Given the description of an element on the screen output the (x, y) to click on. 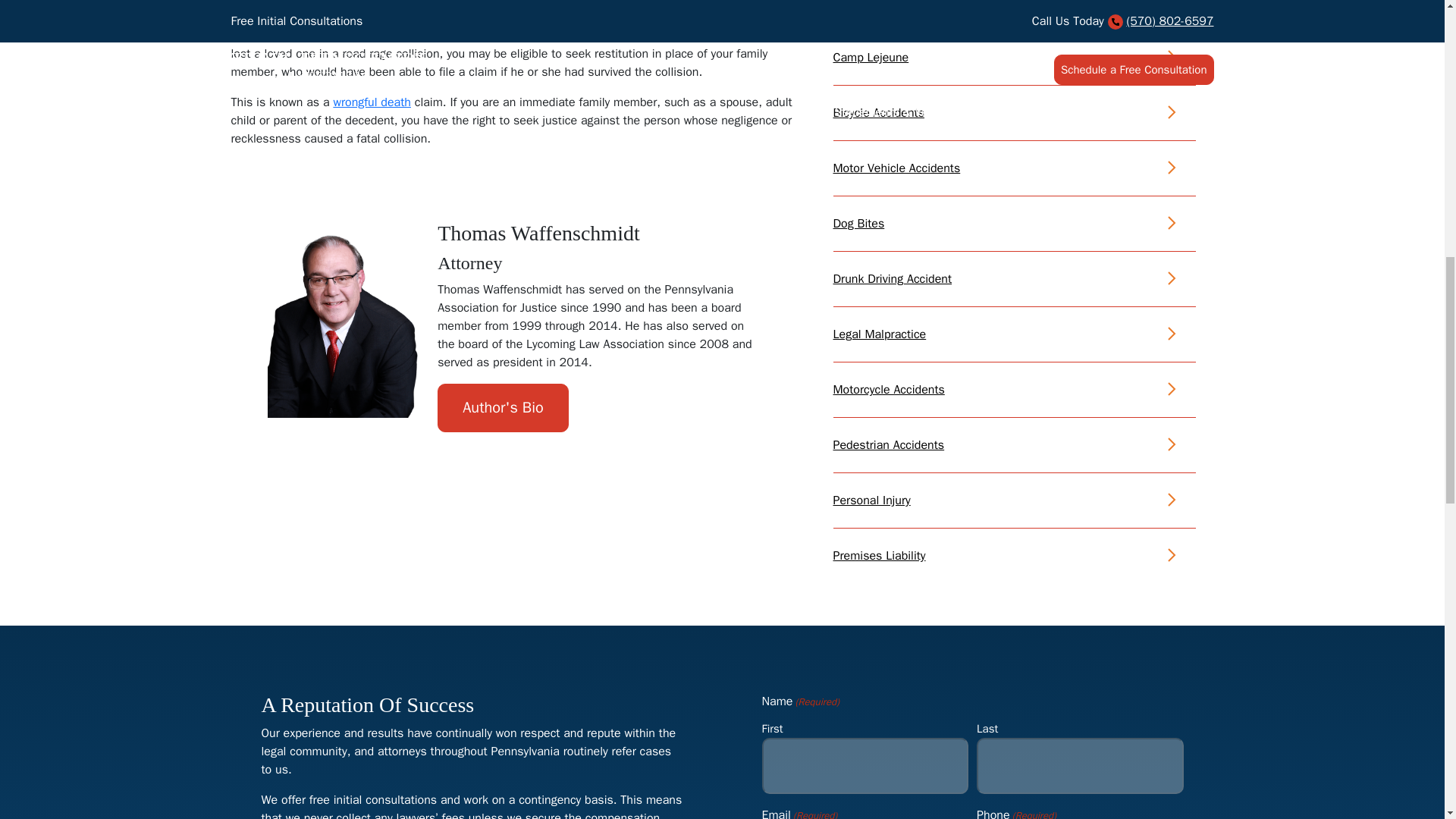
Author's Bio (503, 408)
Camp Lejeune (870, 57)
road rage and aggressive driving (509, 12)
wrongful death (371, 102)
